Given the description of an element on the screen output the (x, y) to click on. 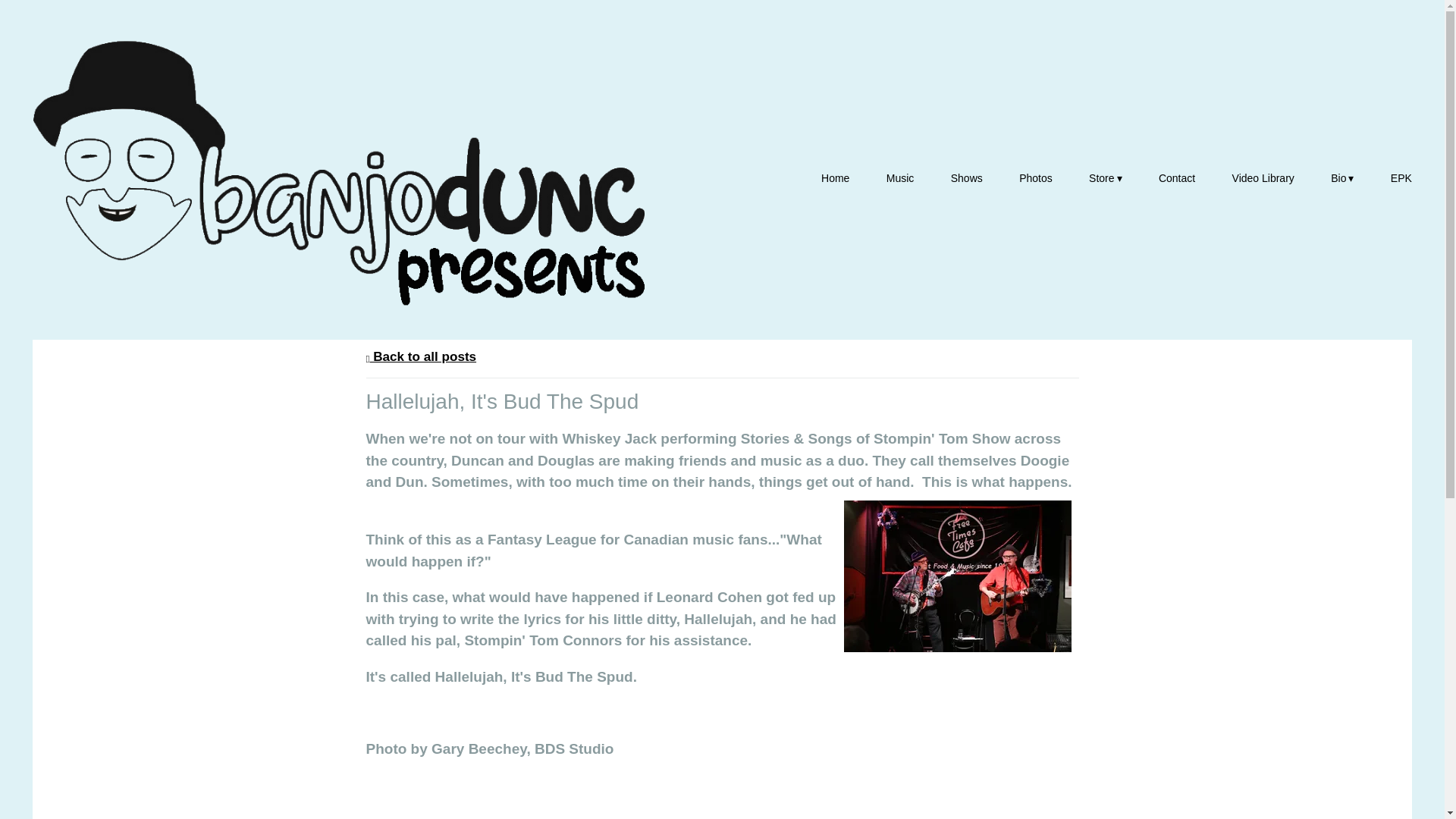
Bio (1342, 178)
Home (834, 178)
Contact (1176, 178)
Video Library (1262, 178)
Photos (1035, 178)
Store (1105, 178)
EPK (1401, 178)
Music (900, 178)
Shows (966, 178)
Back to all posts (420, 356)
